Given the description of an element on the screen output the (x, y) to click on. 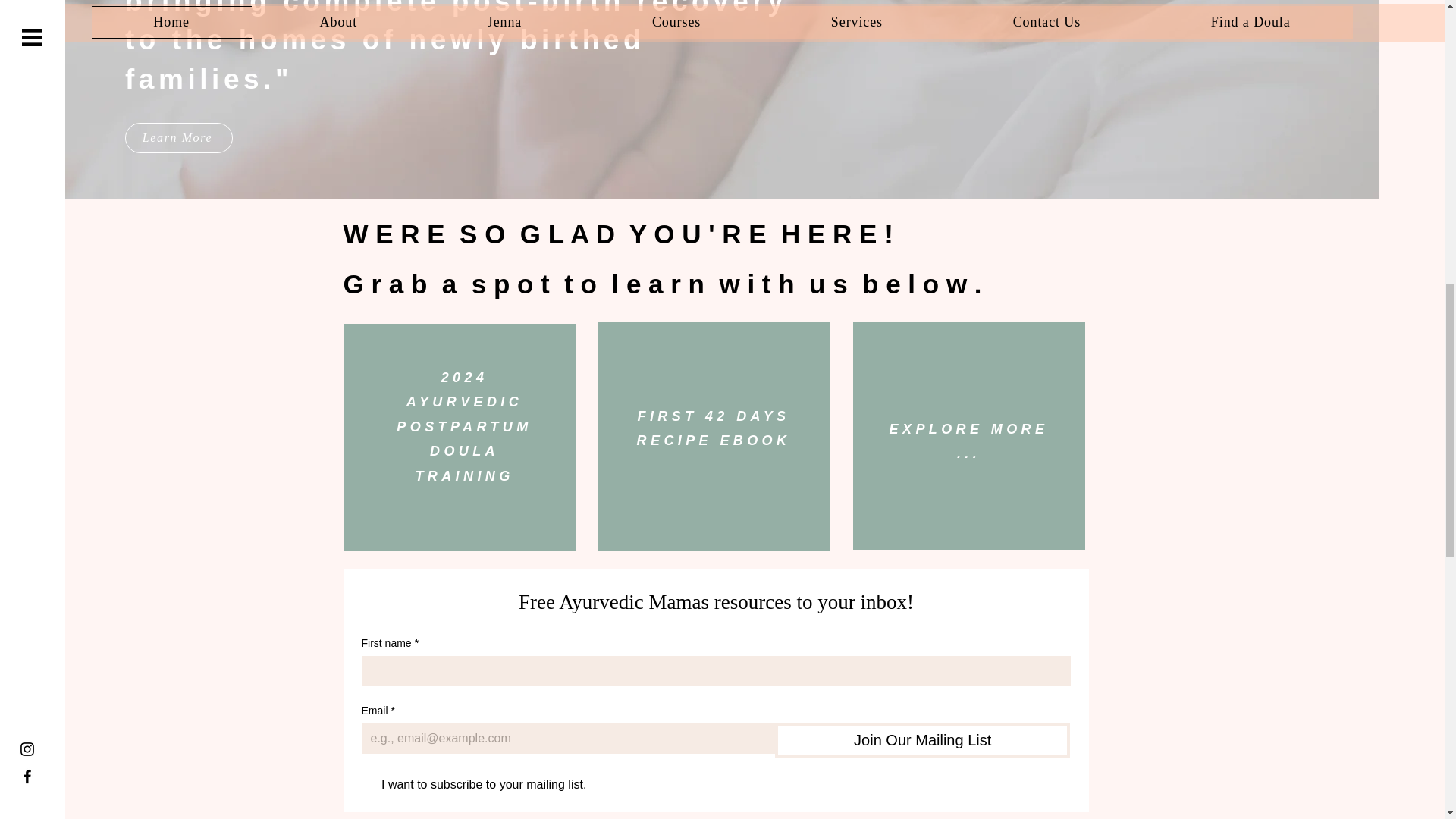
Learn More (968, 441)
Join Our Mailing List (463, 427)
FIRST 42 DAYS RECIPE EBOOK (178, 137)
on (922, 740)
